Given the description of an element on the screen output the (x, y) to click on. 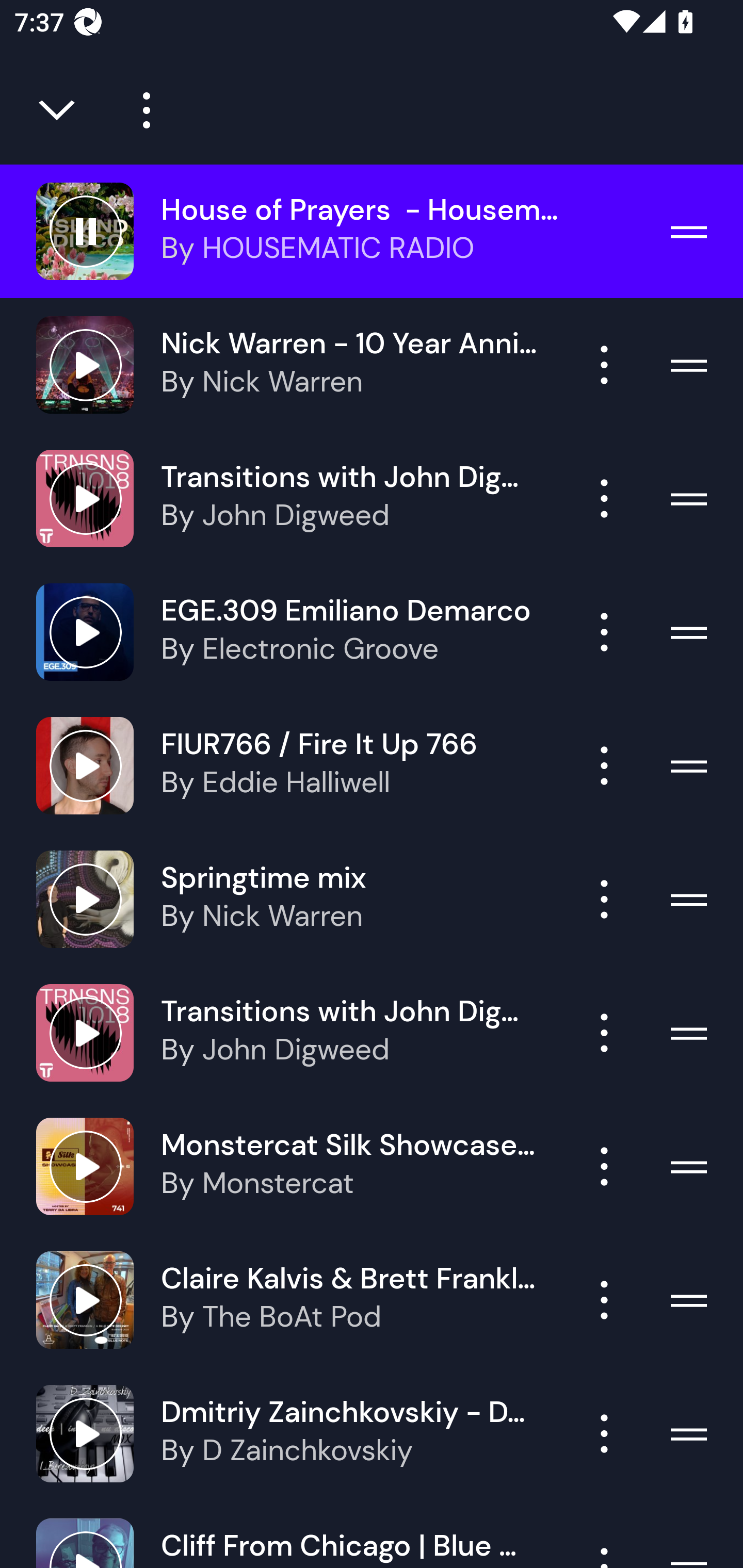
Closes the queue (58, 110)
Queue more options button (139, 110)
Show options button (604, 364)
Show options button (604, 498)
Show options button (604, 631)
Show options button (604, 764)
Show options button (604, 898)
Show options button (604, 1032)
Show options button (604, 1166)
Show options button (604, 1299)
Show options button (604, 1432)
